Given the description of an element on the screen output the (x, y) to click on. 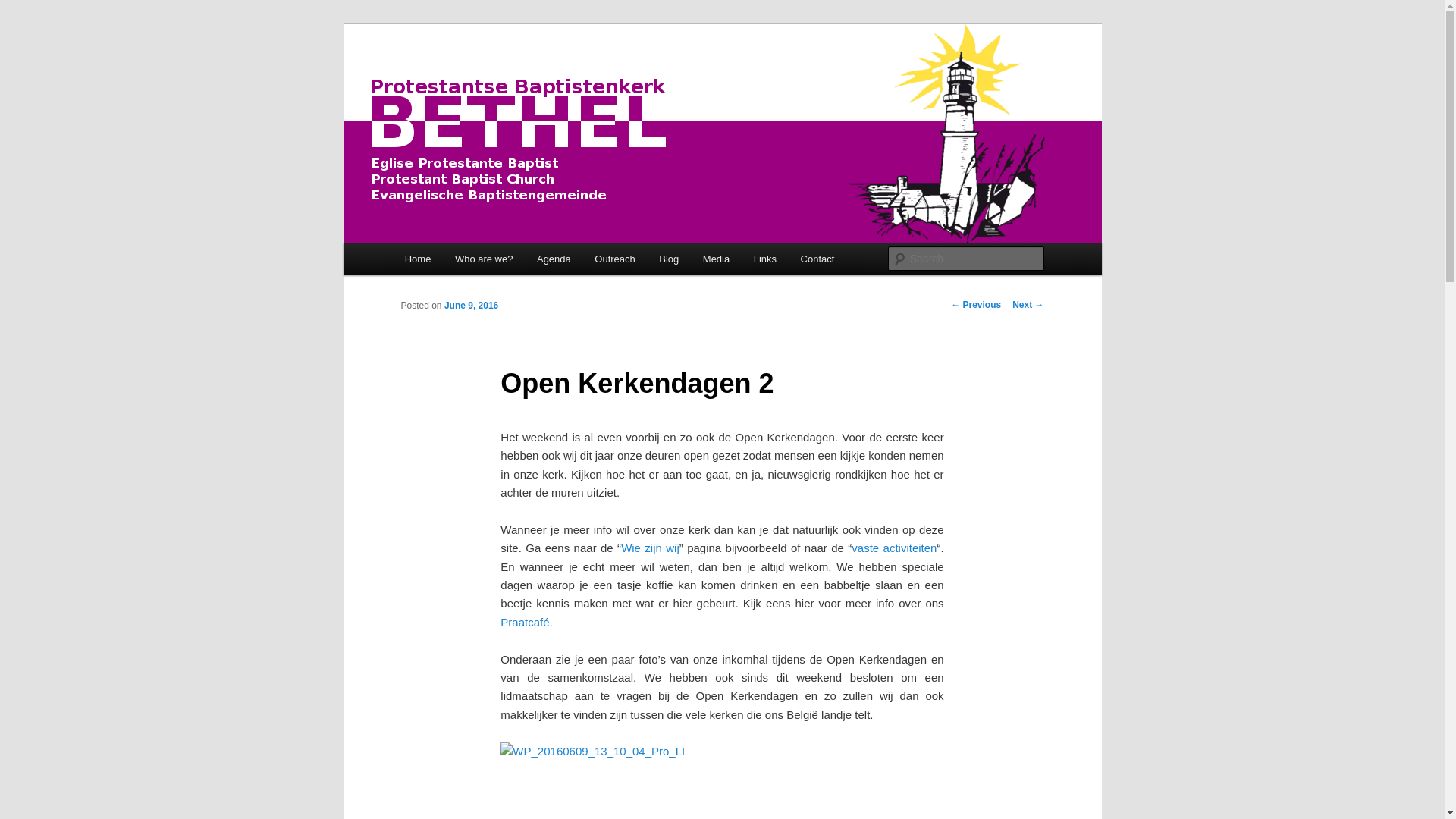
vaste activiteiten Element type: text (893, 547)
Outreach Element type: text (615, 258)
Contact Element type: text (817, 258)
Links Element type: text (764, 258)
Skip to primary content Element type: text (22, 22)
Blog Element type: text (669, 258)
June 9, 2016 Element type: text (471, 305)
Wie zijn wij Element type: text (650, 547)
Media Element type: text (715, 258)
Who are we? Element type: text (483, 258)
Search Element type: text (24, 8)
Home Element type: text (417, 258)
WP_20160609_13_10_04_Pro_LI Element type: hover (592, 751)
Agenda Element type: text (553, 258)
